Given the description of an element on the screen output the (x, y) to click on. 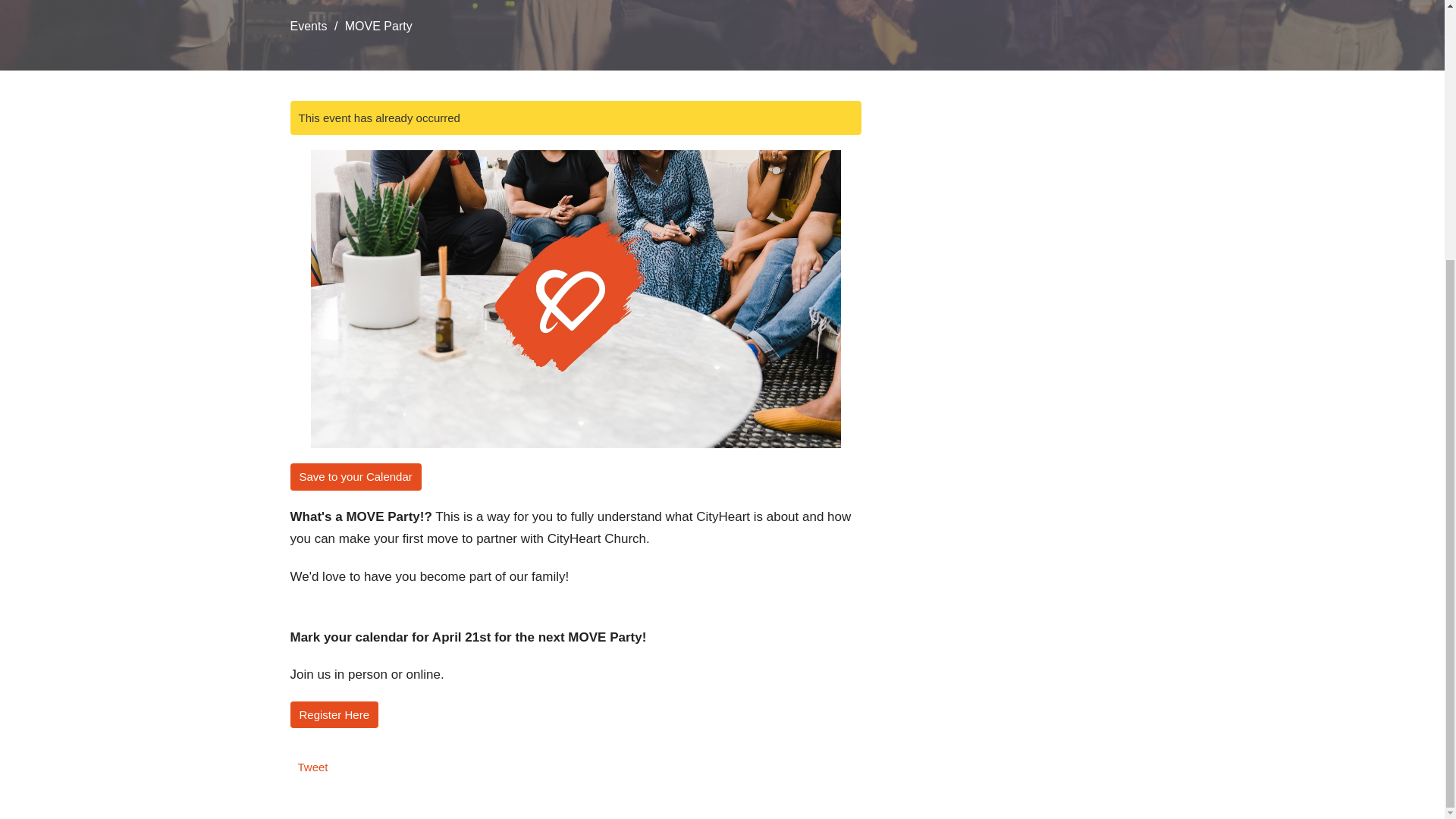
Register Here (333, 714)
Save to your Calendar (354, 476)
Tweet (312, 766)
Events (307, 25)
